Given the description of an element on the screen output the (x, y) to click on. 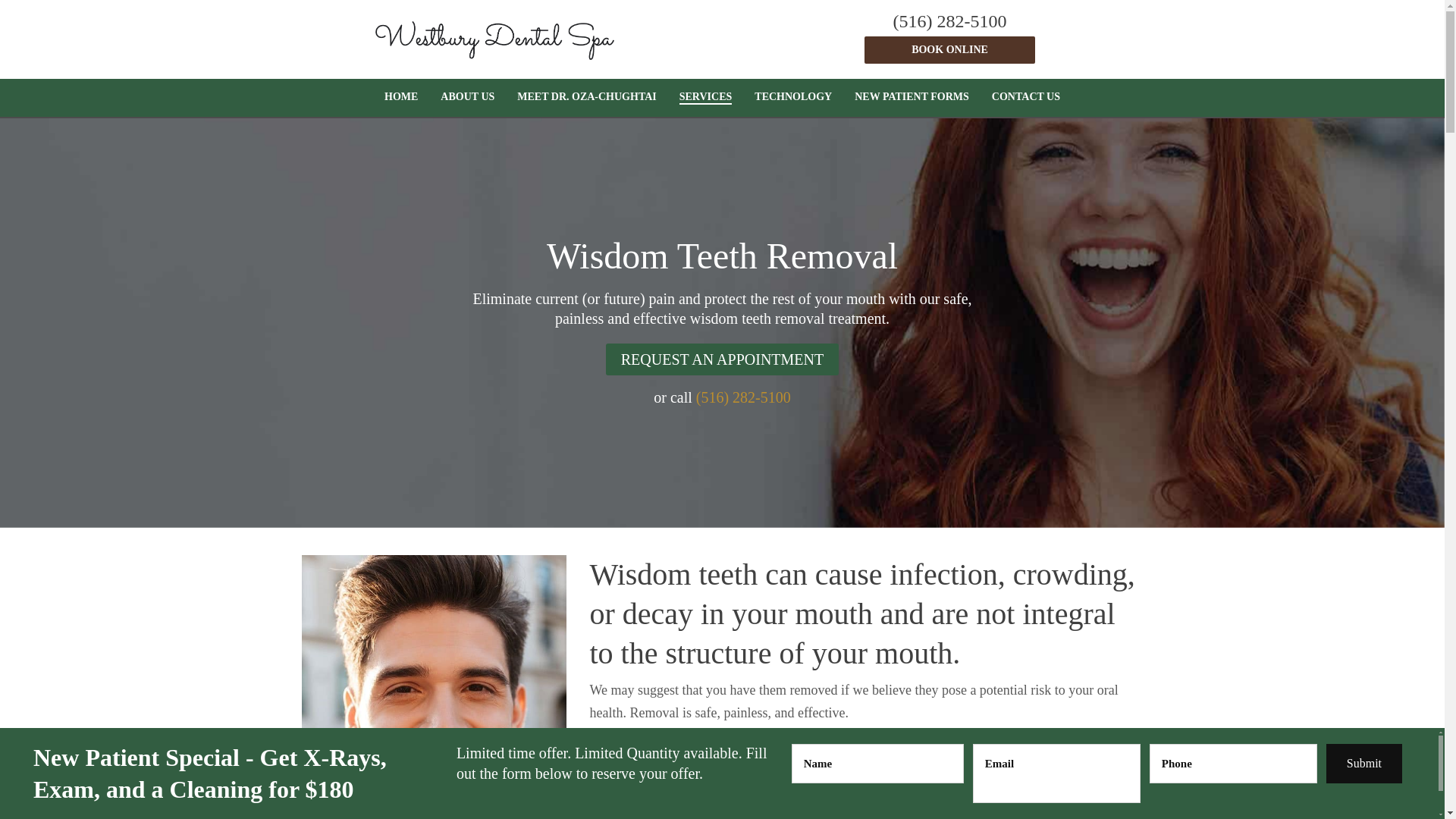
CONTACT US (1025, 97)
HOME (400, 97)
SERVICES (706, 97)
NEW PATIENT FORMS (911, 97)
HOME (400, 97)
MEET DR. OZA-CHUGHTAI (585, 97)
ABOUT US (467, 97)
ABOUT US (467, 97)
SERVICES (706, 97)
TECHNOLOGY (792, 97)
